Given the description of an element on the screen output the (x, y) to click on. 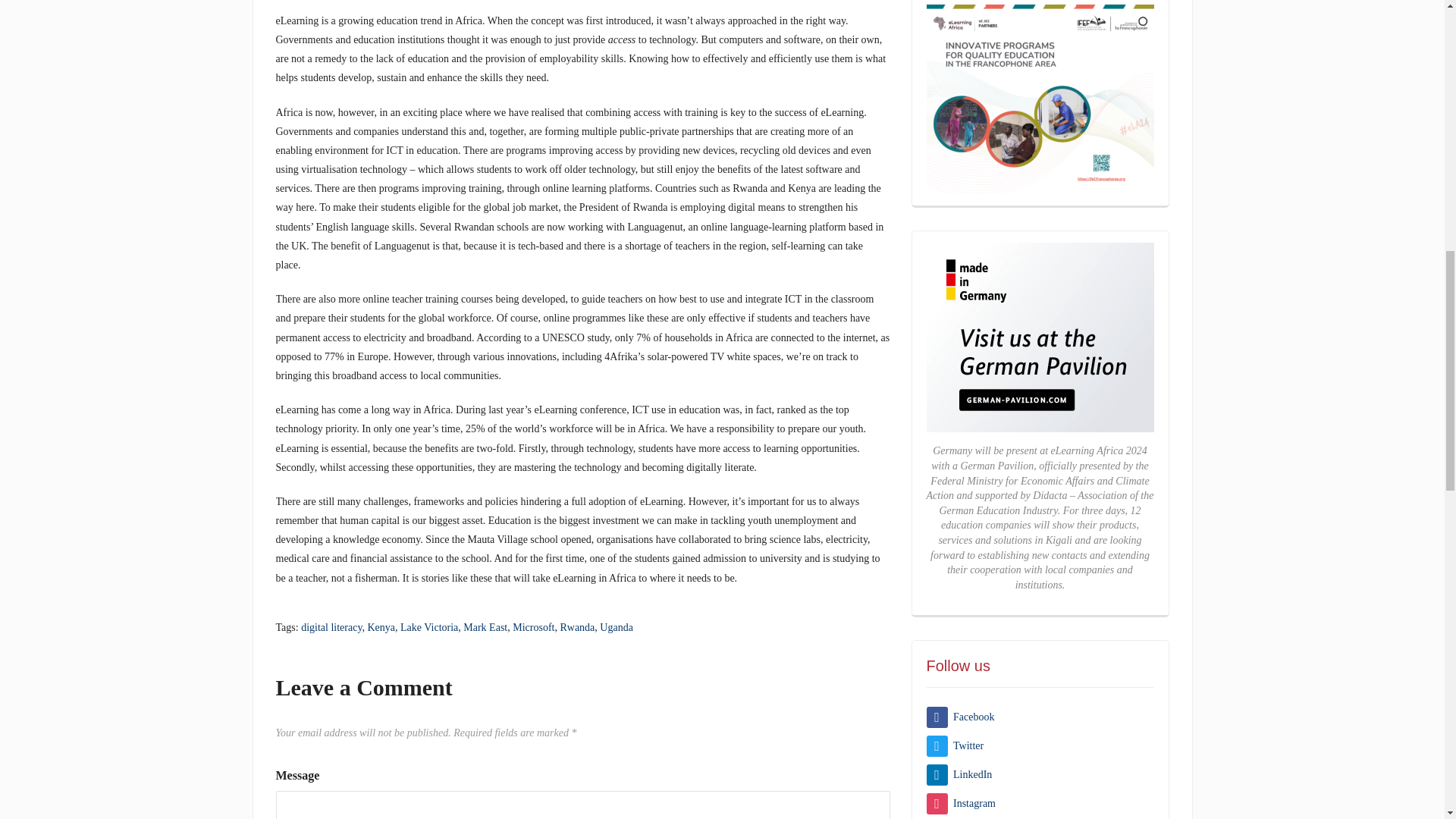
Facebook (960, 716)
Lake Victoria (429, 627)
Mark East (484, 627)
Instagram (960, 803)
Microsoft (533, 627)
digital literacy (331, 627)
Uganda (616, 627)
LinkedIn (959, 774)
Kenya (380, 627)
Twitter (955, 745)
